Given the description of an element on the screen output the (x, y) to click on. 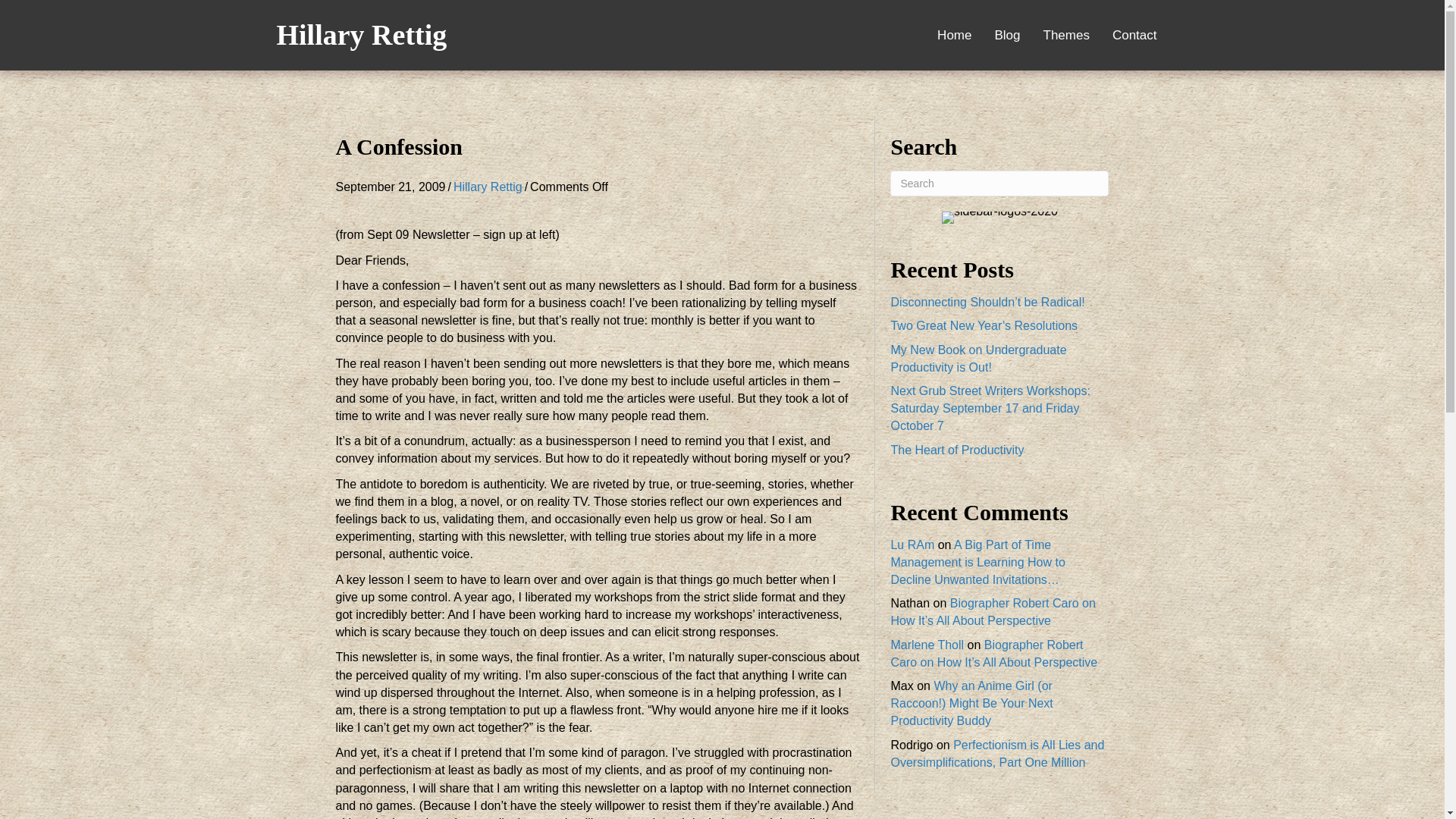
Hillary Rettig (361, 34)
Hillary Rettig (361, 34)
Type and press Enter to search. (998, 183)
Home (954, 35)
Hillary Rettig (487, 186)
Blog (1007, 35)
The Heart of Productivity (956, 449)
Marlene Tholl (926, 644)
Themes (1066, 35)
Contact (1134, 35)
My New Book on Undergraduate Productivity is Out! (977, 358)
Lu RAm (911, 544)
sidebar-logos-2020 (1000, 217)
